Given the description of an element on the screen output the (x, y) to click on. 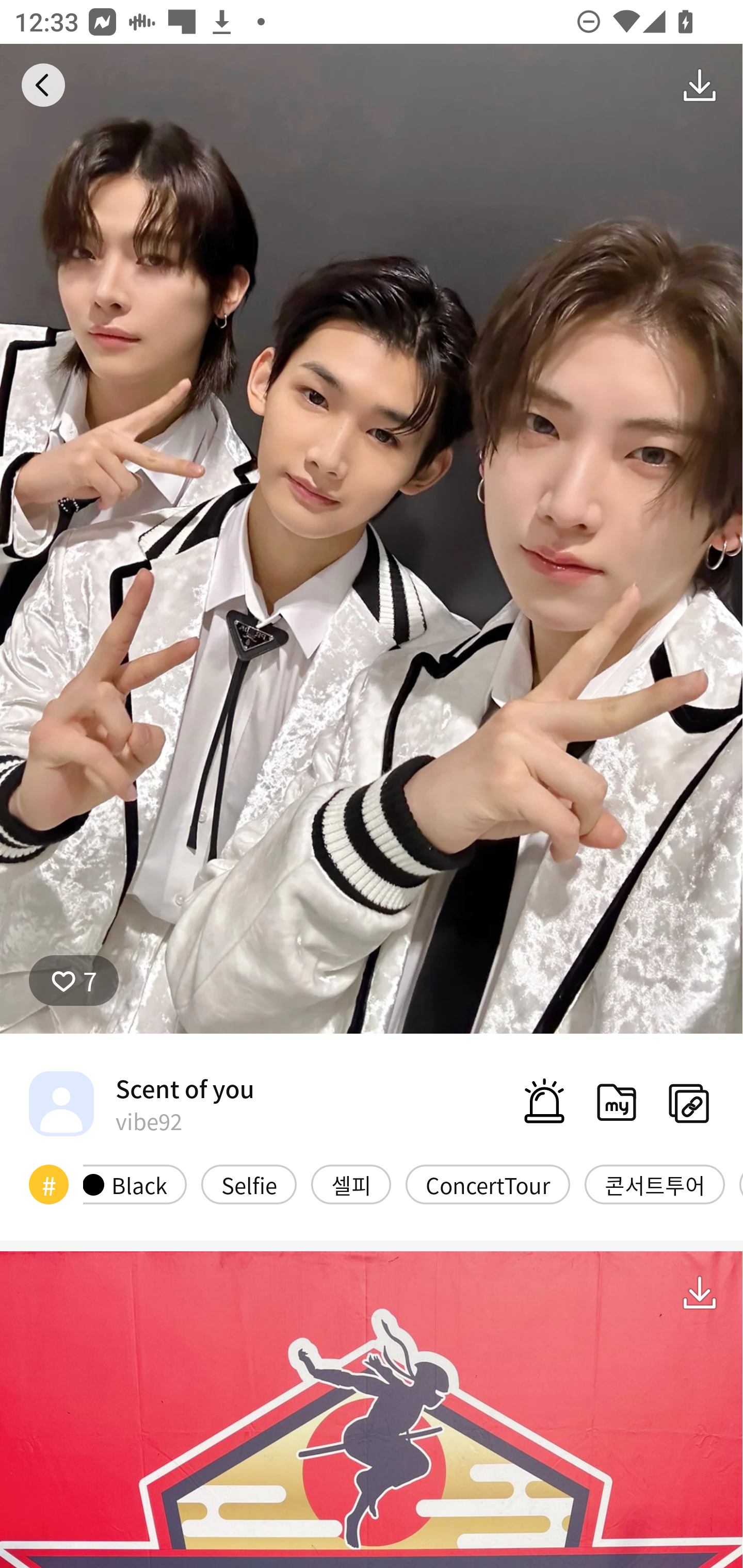
7 (73, 980)
Scent of you vibe92 (141, 1102)
Black (134, 1184)
Selfie (248, 1184)
셀피 (350, 1184)
ConcertTour (487, 1184)
콘서트투어 (654, 1184)
